Given the description of an element on the screen output the (x, y) to click on. 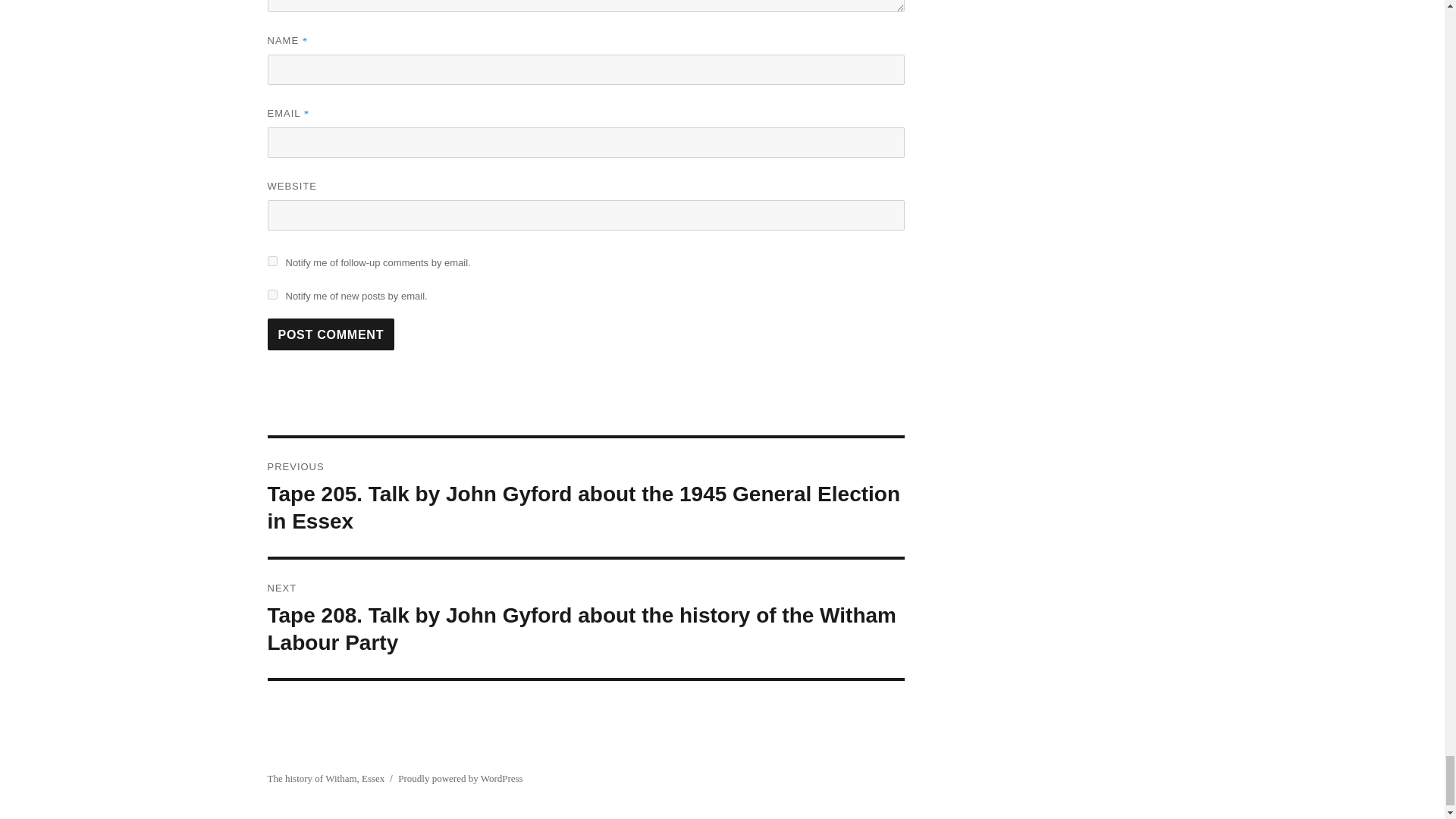
Post Comment (330, 334)
subscribe (271, 261)
subscribe (271, 294)
Post Comment (330, 334)
